Given the description of an element on the screen output the (x, y) to click on. 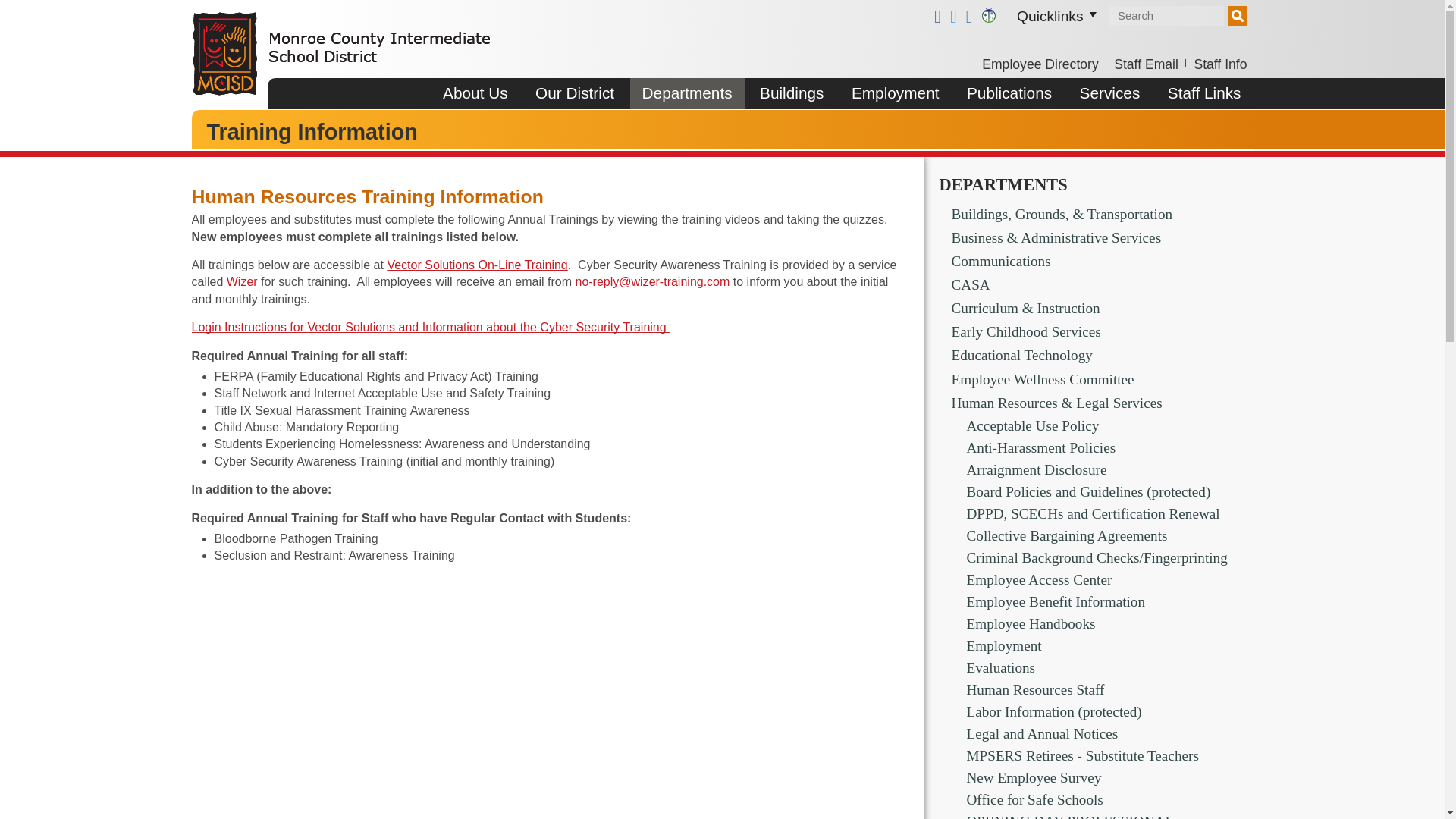
Monroe Local Weather (987, 15)
Search (1236, 15)
Our District (574, 92)
About Us (474, 92)
